Given the description of an element on the screen output the (x, y) to click on. 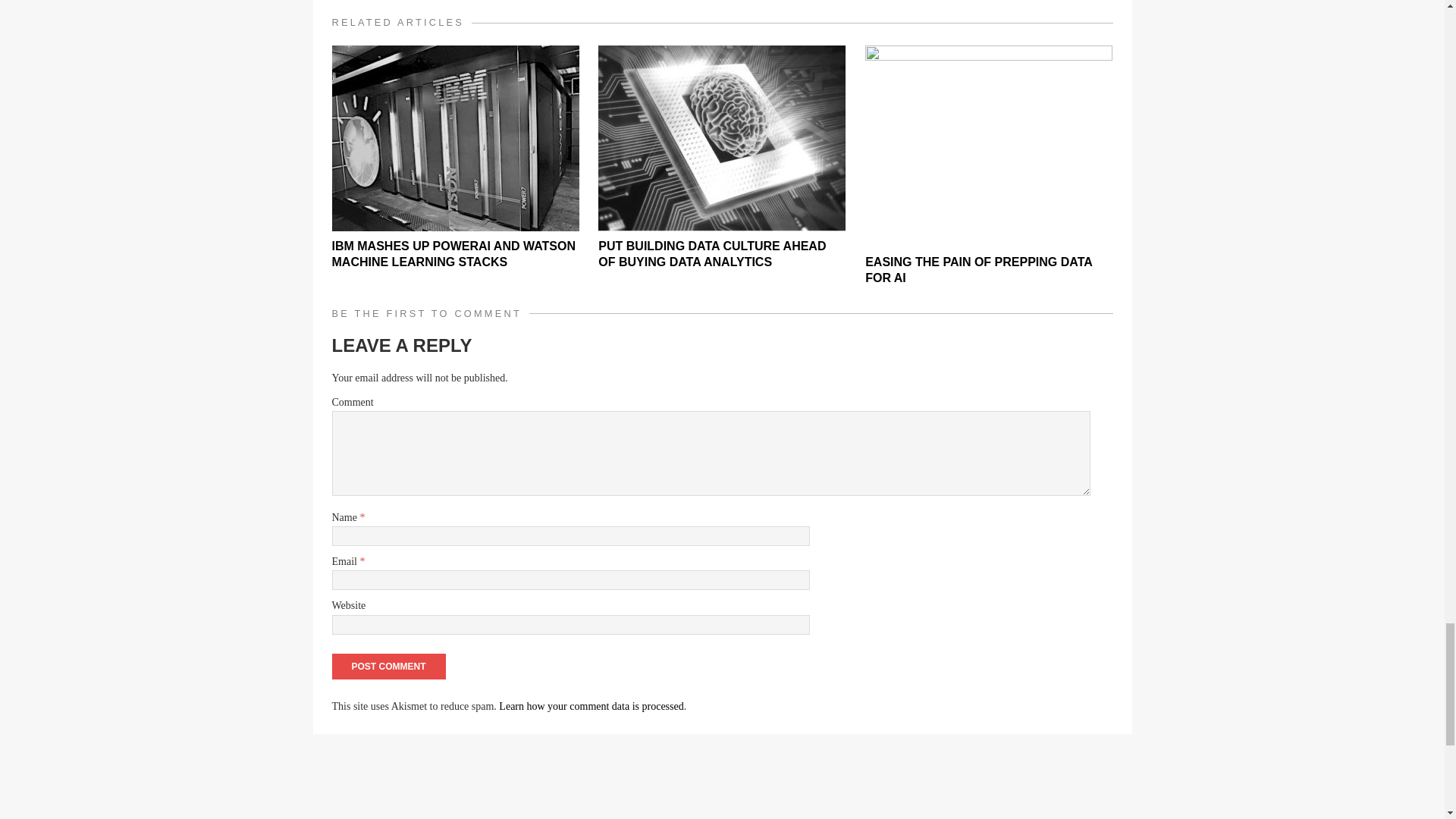
Post Comment (388, 666)
